Given the description of an element on the screen output the (x, y) to click on. 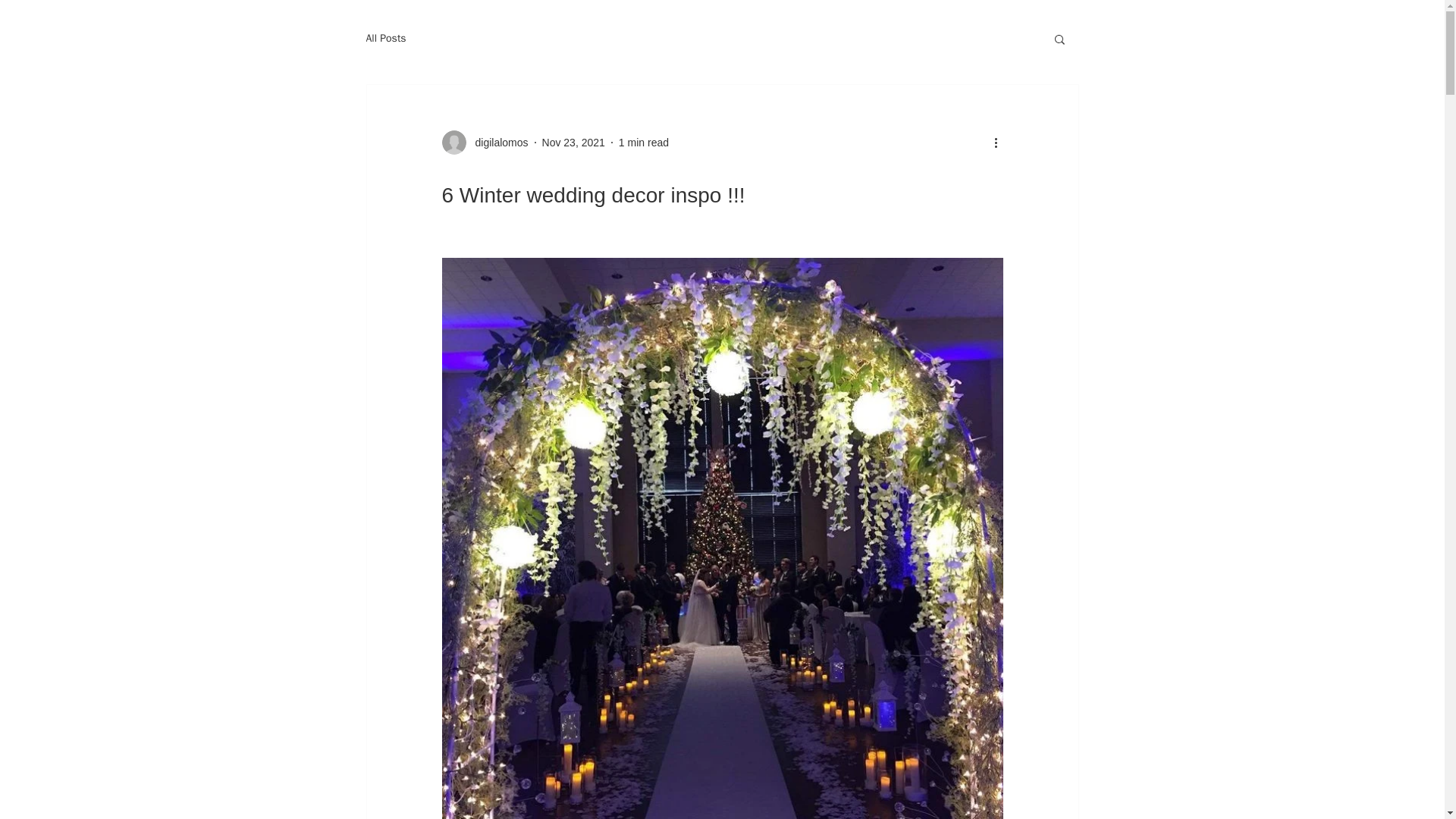
digilalomos (496, 142)
digilalomos (484, 142)
1 min read (643, 142)
Nov 23, 2021 (573, 142)
All Posts (385, 38)
